Given the description of an element on the screen output the (x, y) to click on. 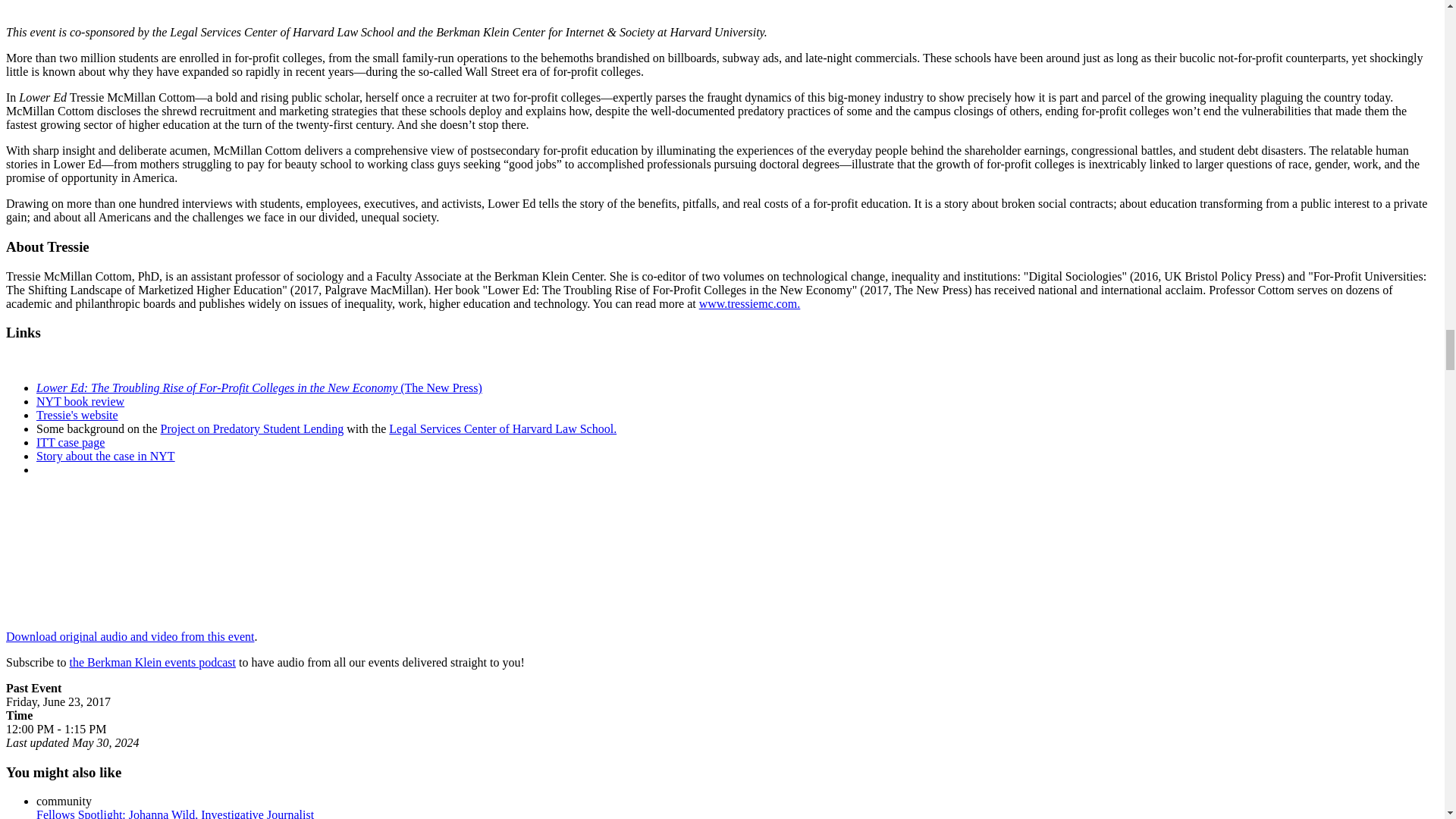
Project on Predatory Student Lending (251, 428)
the Berkman Klein events podcast (152, 662)
Download original audio and video from this event (129, 635)
Story about the case in NYT (105, 455)
Legal Services Center of Harvard Law School. (501, 428)
NYT book review (79, 400)
ITT case page (70, 441)
Tressie's website (76, 414)
Fellows Spotlight: Johanna Wild, Investigative Journalist (175, 813)
www.tressiemc.com. (749, 303)
